Given the description of an element on the screen output the (x, y) to click on. 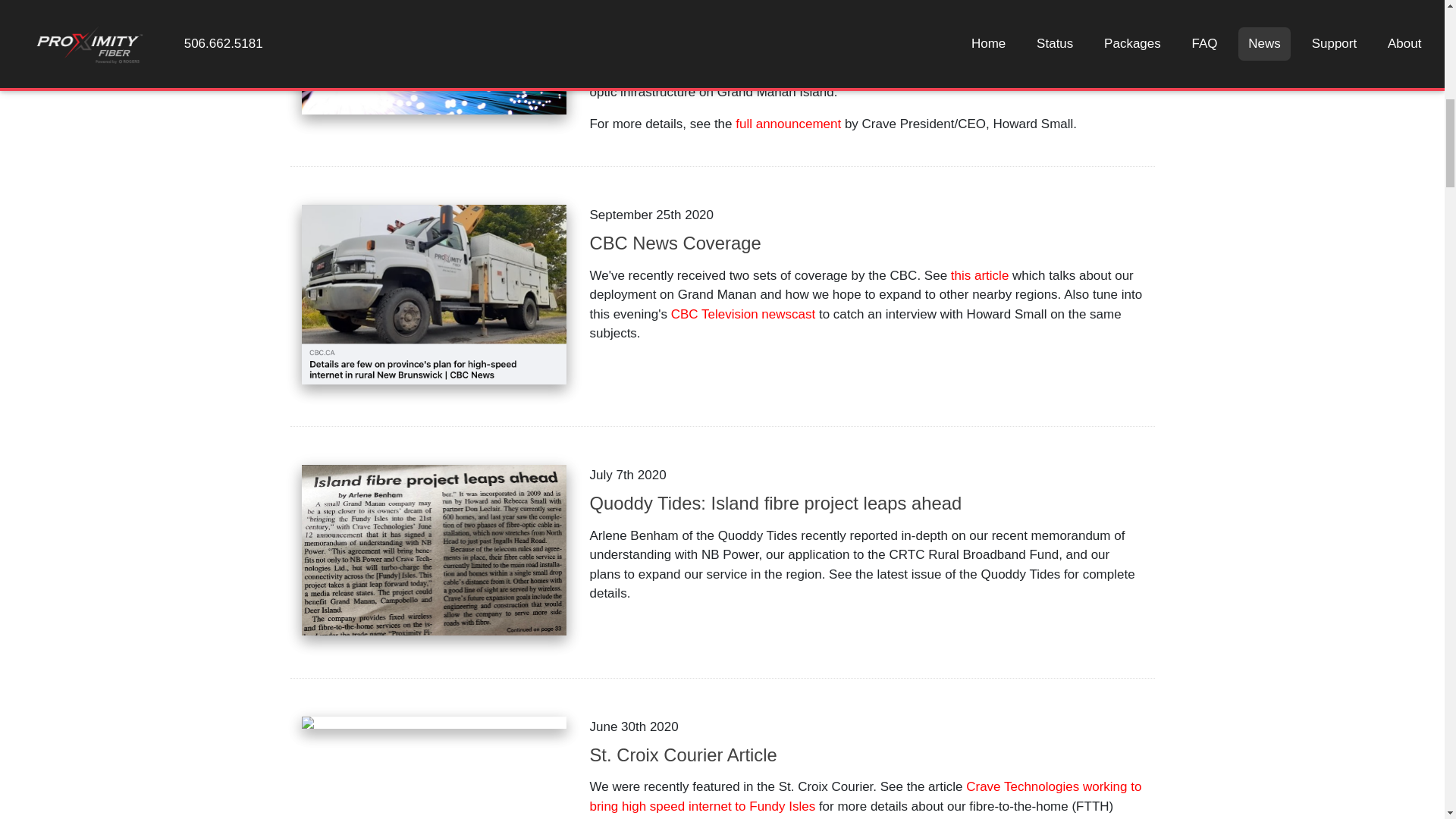
full announcement (788, 124)
this article (979, 275)
CBC Television newscast (743, 314)
announce (742, 14)
